Given the description of an element on the screen output the (x, y) to click on. 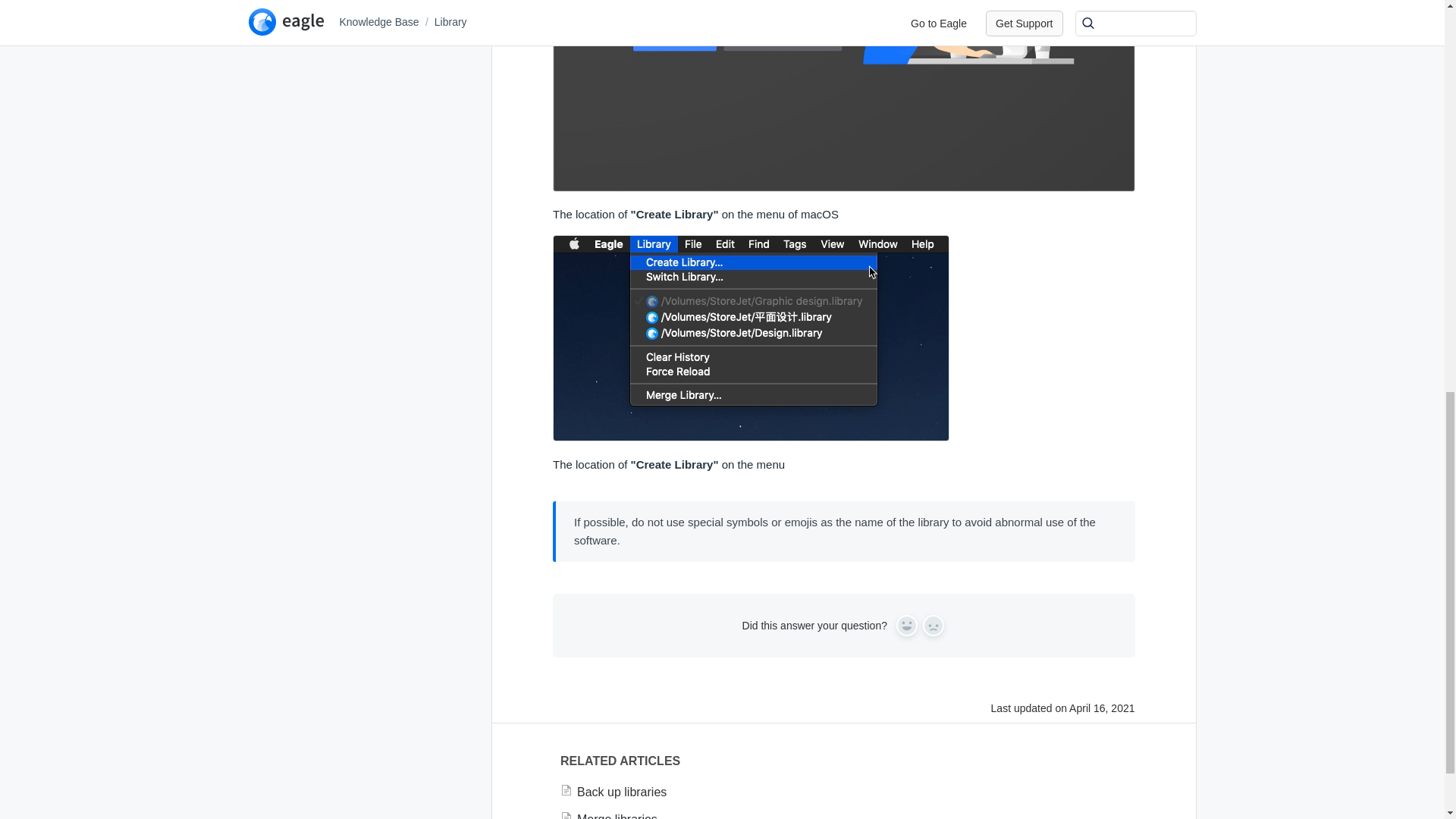
No (933, 625)
Yes (906, 625)
Back up libraries (843, 791)
Merge libraries (843, 814)
